Given the description of an element on the screen output the (x, y) to click on. 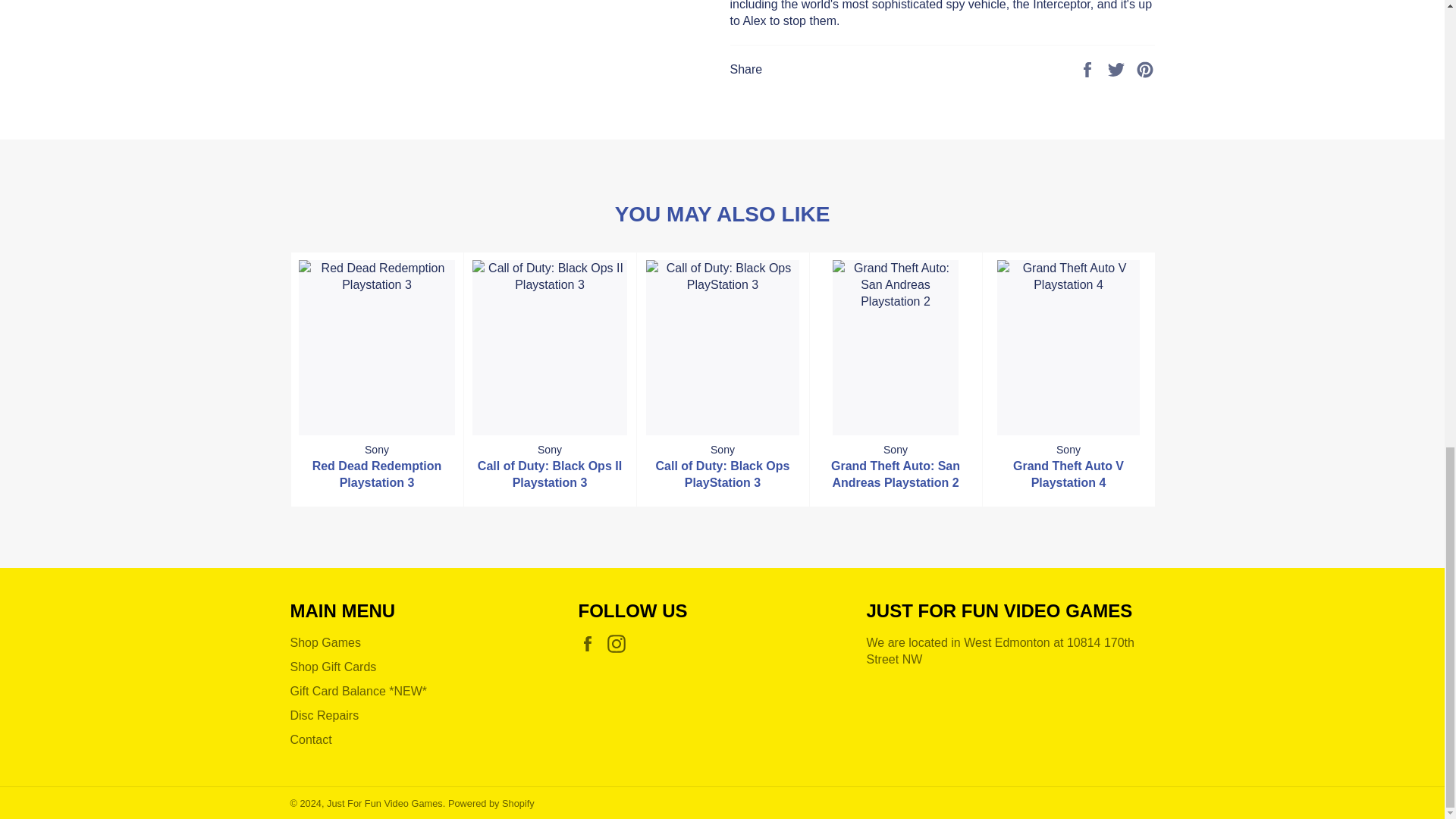
Pin on Pinterest (1144, 68)
Just For Fun Video Games on Facebook (591, 643)
Just For Fun Video Games on Instagram (620, 643)
Tweet on Twitter (1117, 68)
Share on Facebook (1088, 68)
